Given the description of an element on the screen output the (x, y) to click on. 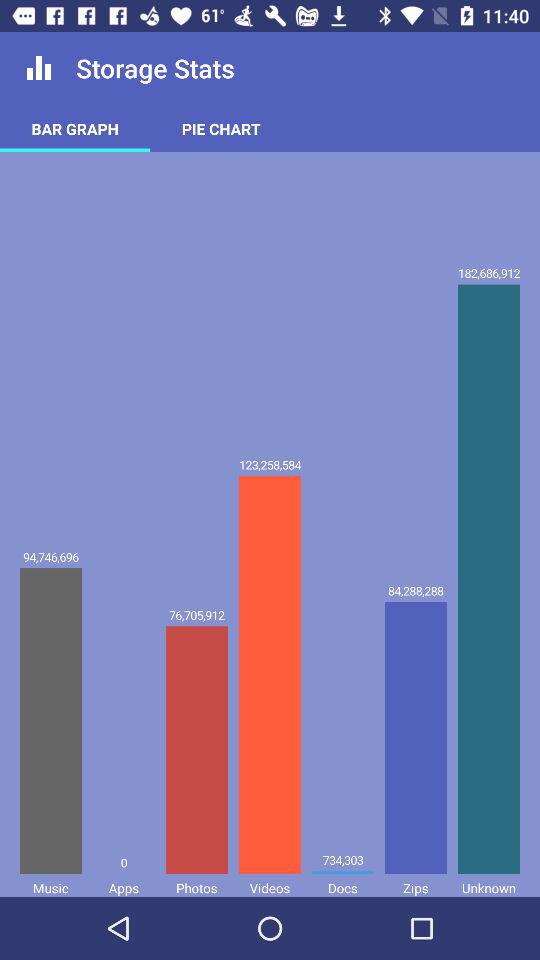
tap app to the left of the pie chart (75, 128)
